Given the description of an element on the screen output the (x, y) to click on. 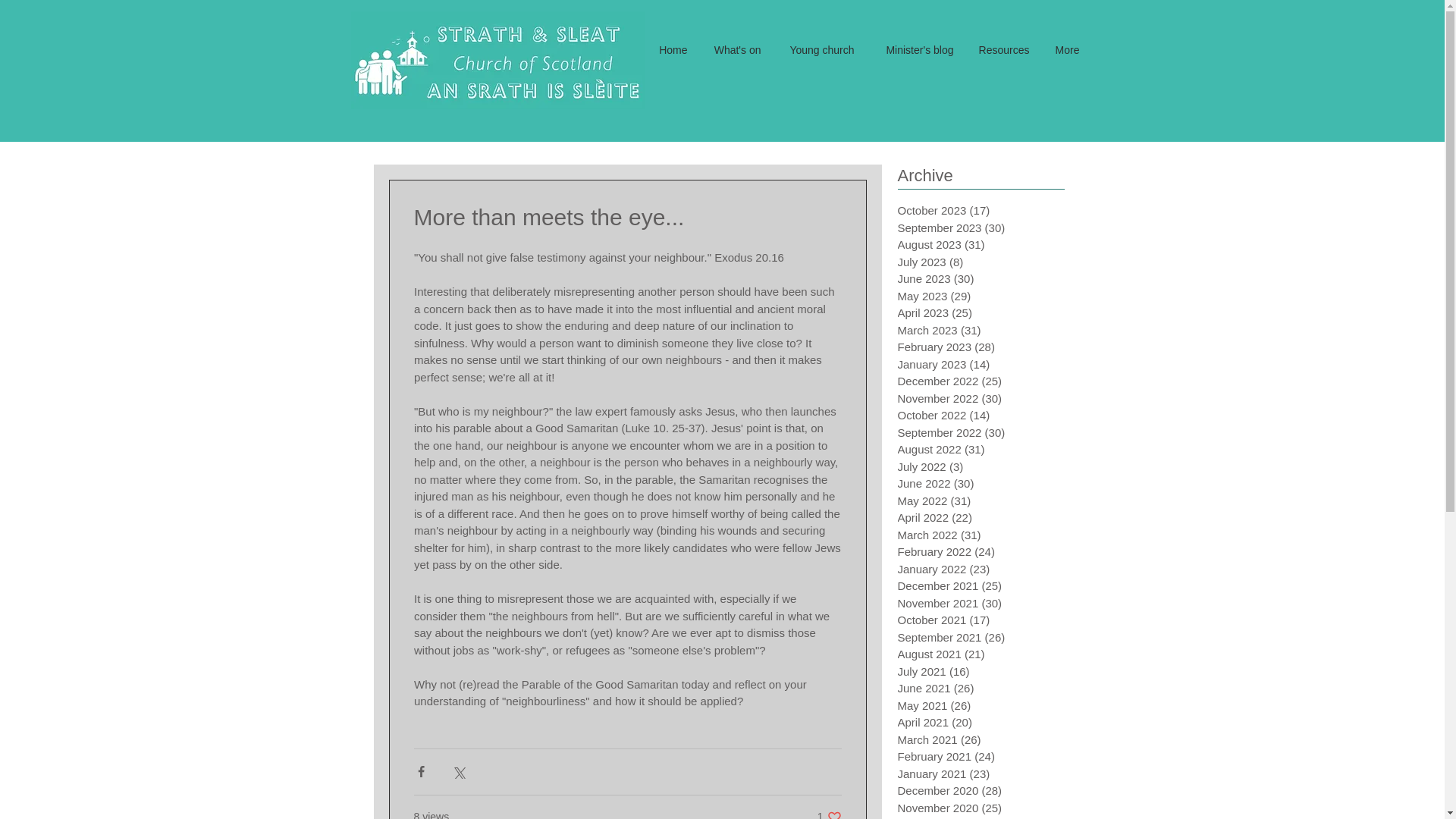
Resources (828, 814)
What's on (1002, 50)
Young church (735, 50)
Home (817, 50)
Minister's blog (671, 50)
